Given the description of an element on the screen output the (x, y) to click on. 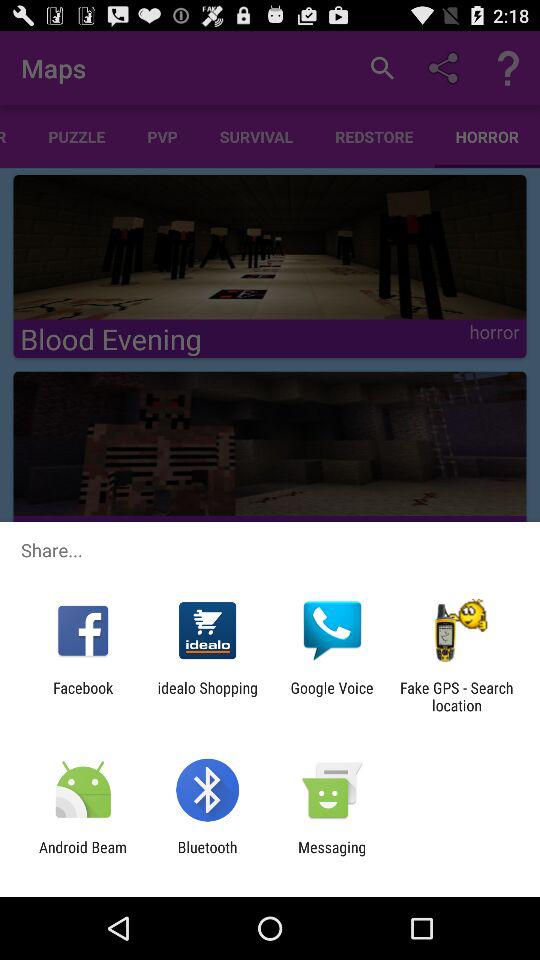
tap the idealo shopping icon (207, 696)
